Given the description of an element on the screen output the (x, y) to click on. 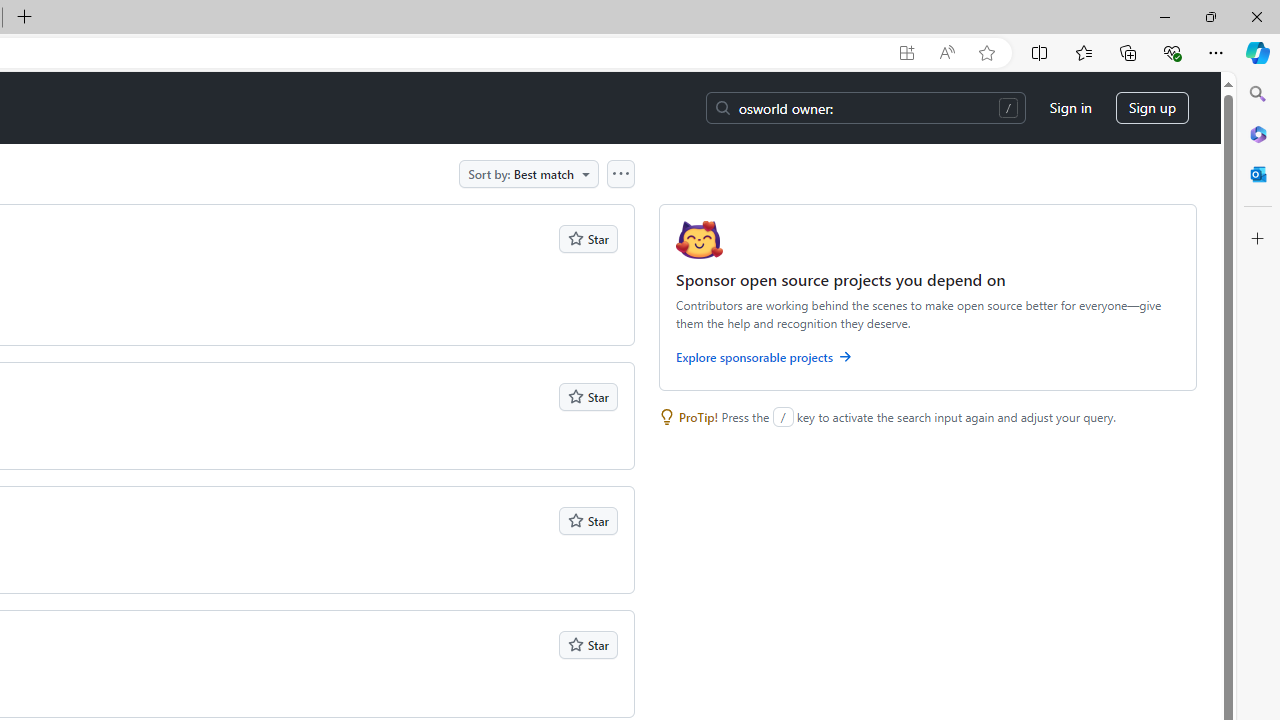
Open column options (620, 173)
Package icon (699, 240)
